Given the description of an element on the screen output the (x, y) to click on. 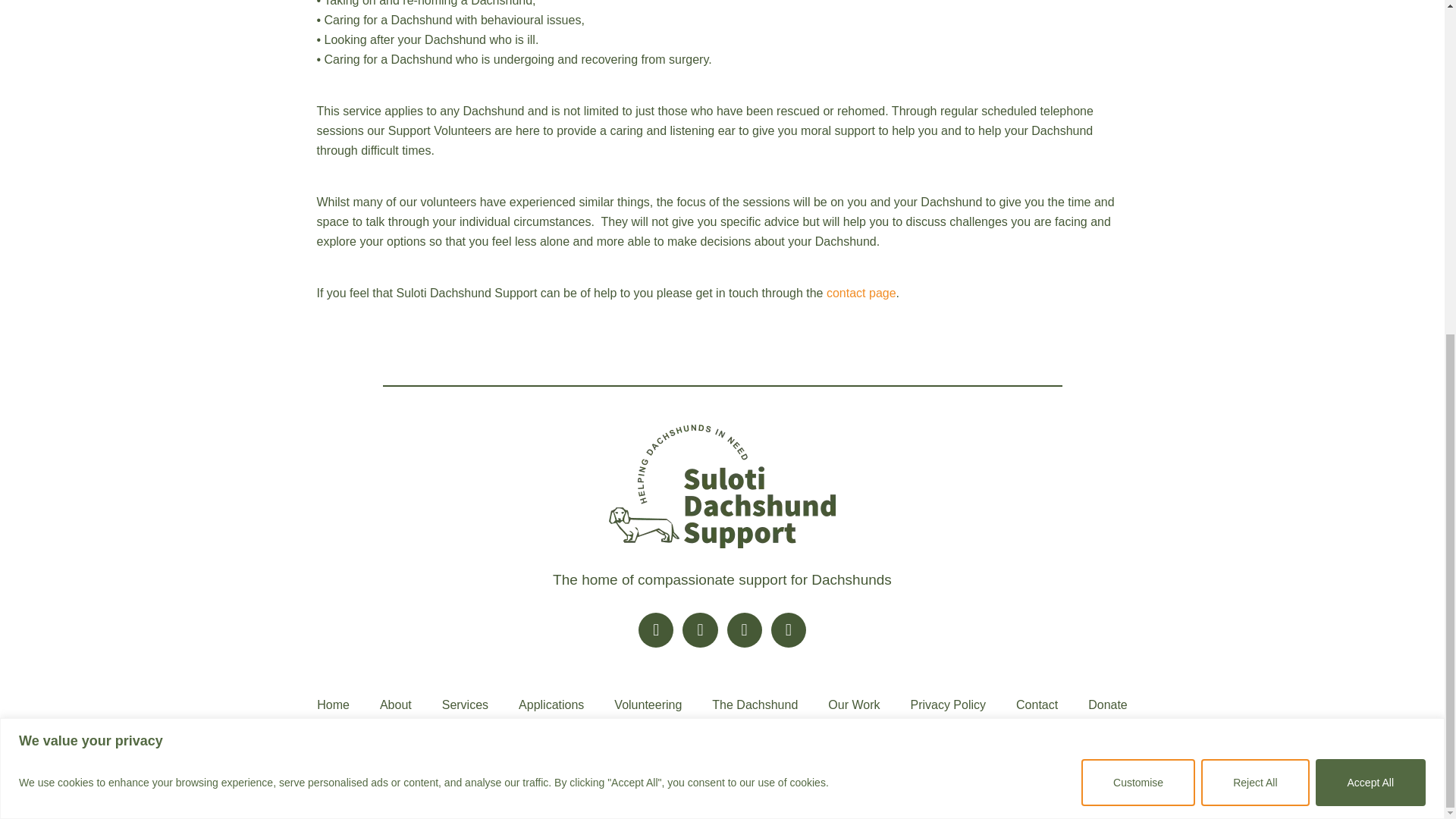
Reject All (1254, 223)
Contact (861, 292)
Customise (1138, 223)
Accept All (1370, 223)
